Given the description of an element on the screen output the (x, y) to click on. 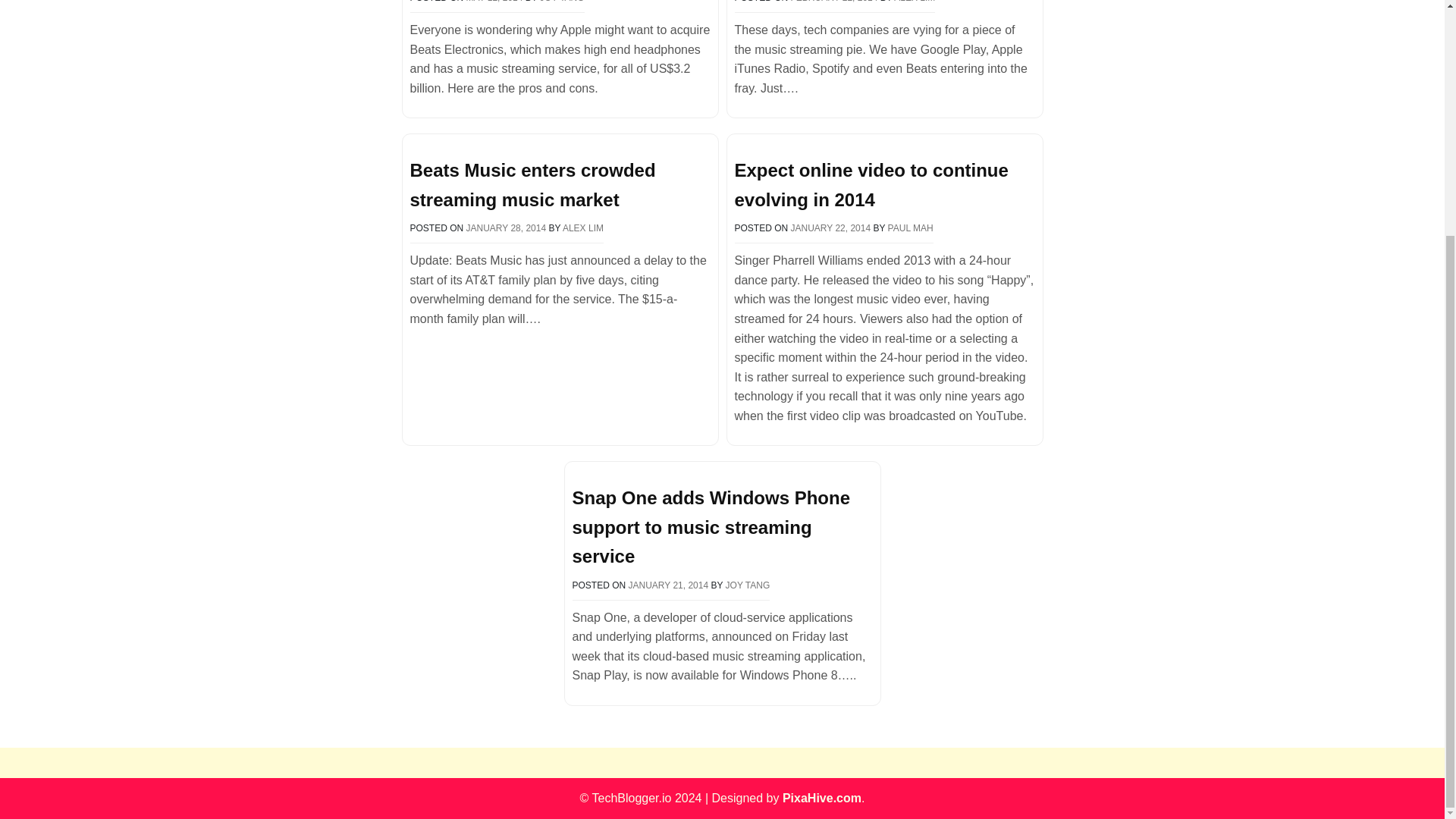
PixaHive.com (822, 797)
Beats Music enters crowded streaming music market (532, 184)
MAY 12, 2014 (493, 1)
JANUARY 21, 2014 (668, 584)
PAUL MAH (910, 227)
FEBRUARY 22, 2014 (833, 1)
ALEX LIM (913, 1)
JANUARY 28, 2014 (506, 227)
JOY TANG (747, 584)
ALEX LIM (583, 227)
JANUARY 22, 2014 (830, 227)
JOY TANG (562, 1)
Expect online video to continue evolving in 2014 (870, 184)
